Given the description of an element on the screen output the (x, y) to click on. 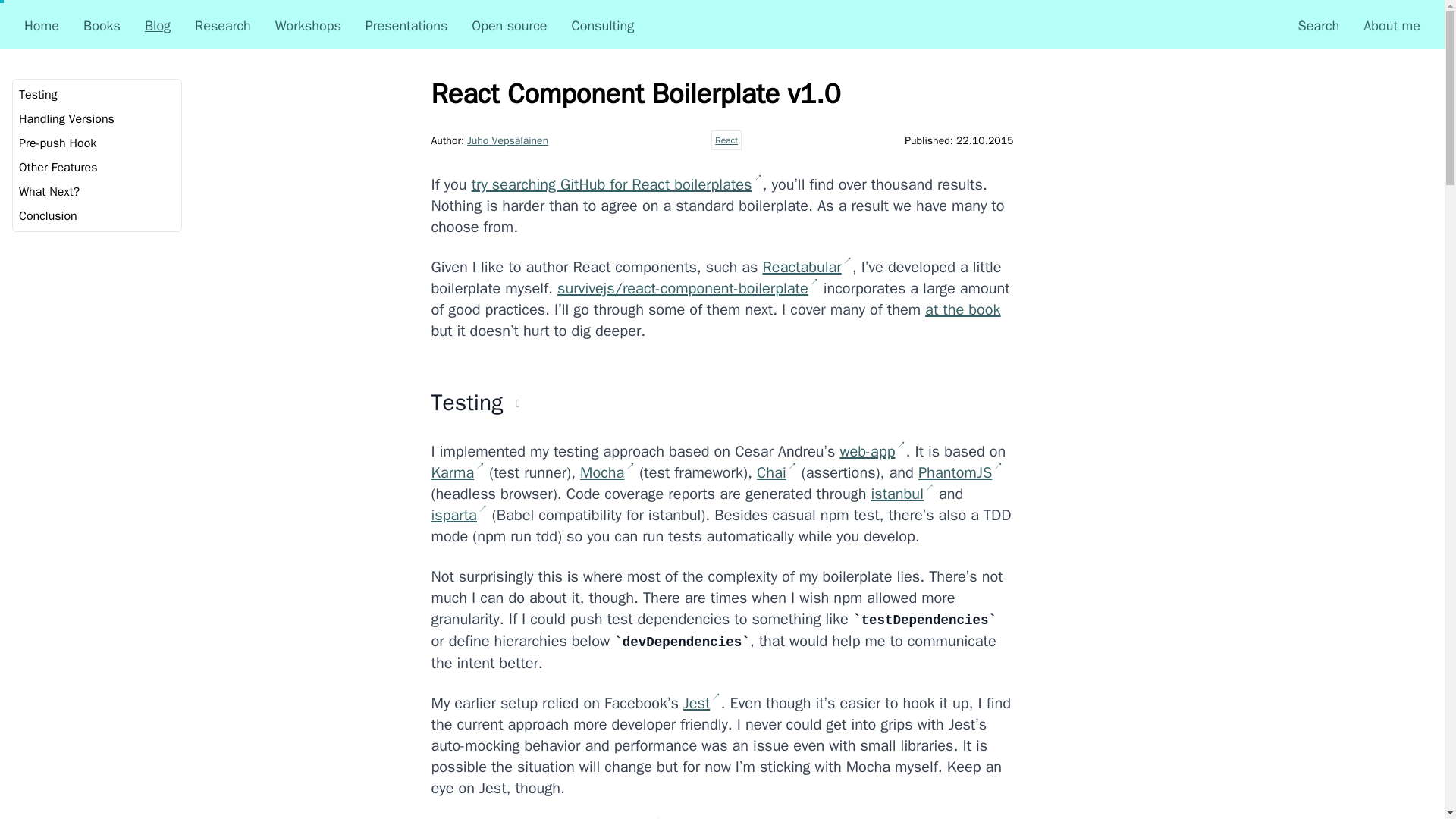
Research (222, 25)
Home (41, 25)
Presentations (406, 25)
Consulting (603, 25)
Blog (157, 25)
Workshops (307, 25)
at the book (962, 309)
Testing (38, 94)
Books (101, 25)
Other Features (57, 167)
